Given the description of an element on the screen output the (x, y) to click on. 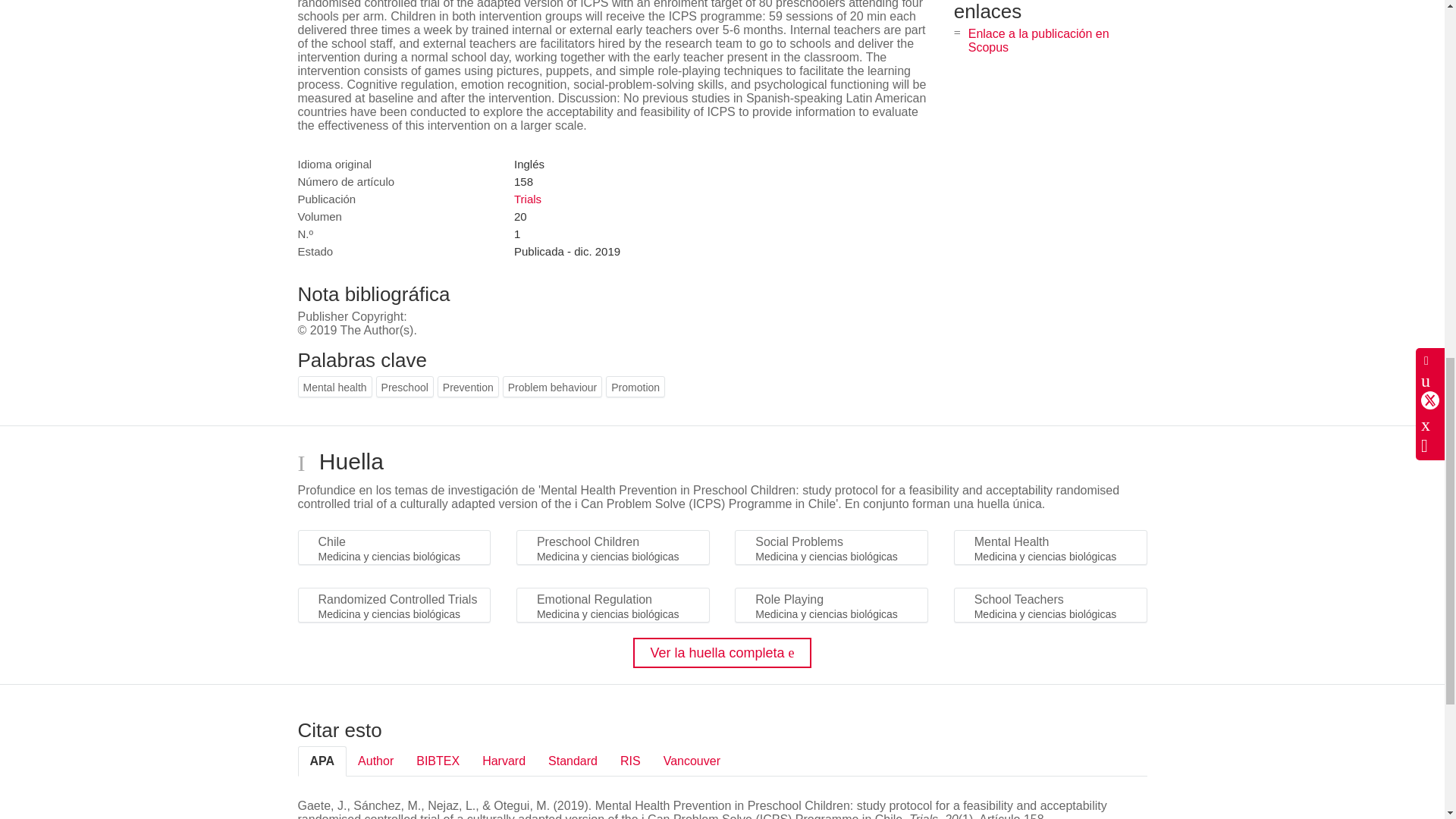
Trials (527, 198)
